Given the description of an element on the screen output the (x, y) to click on. 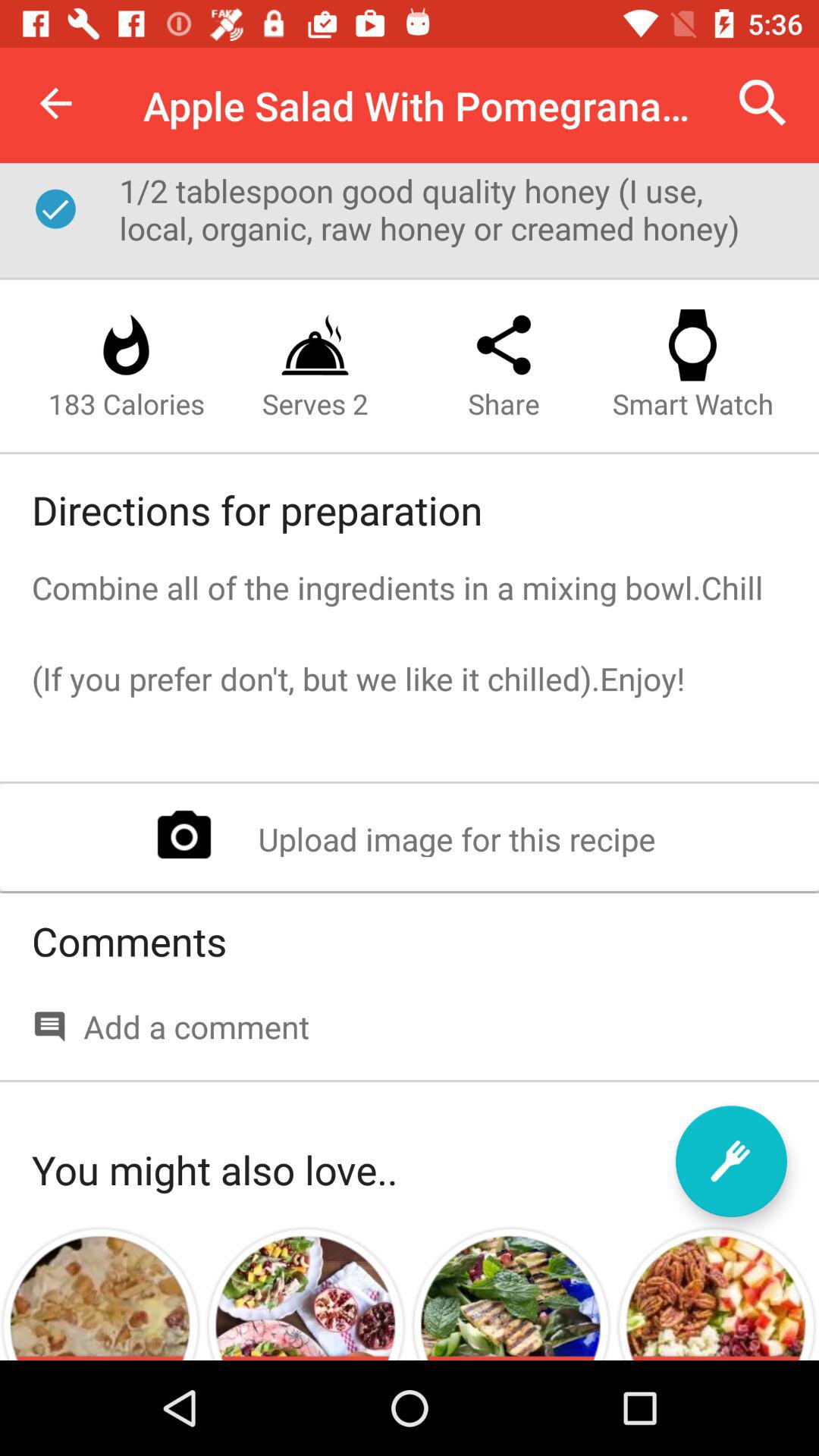
select the item to the right of apple salad with item (763, 103)
